Given the description of an element on the screen output the (x, y) to click on. 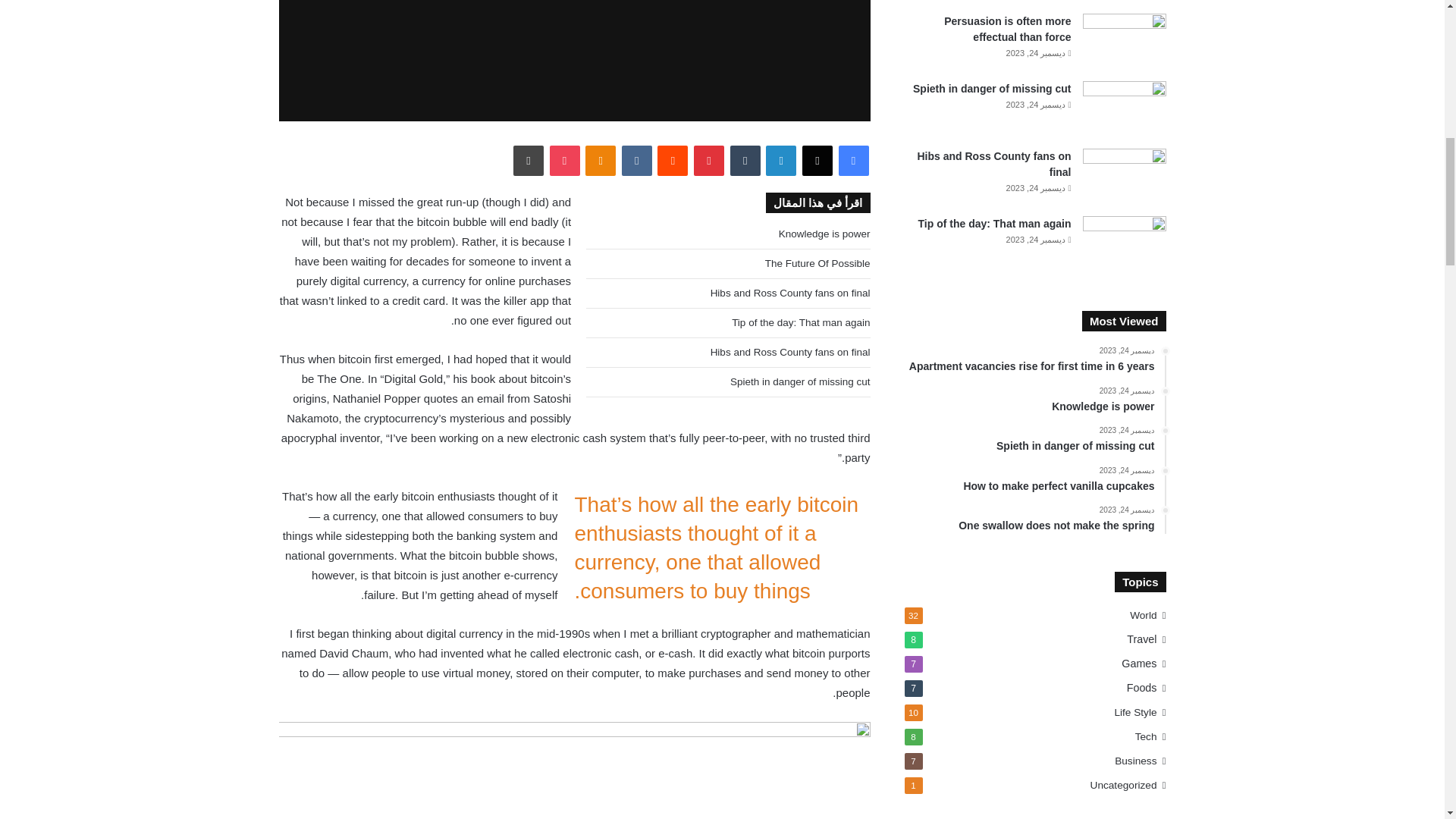
MANOMAN (574, 60)
X (817, 160)
